Given the description of an element on the screen output the (x, y) to click on. 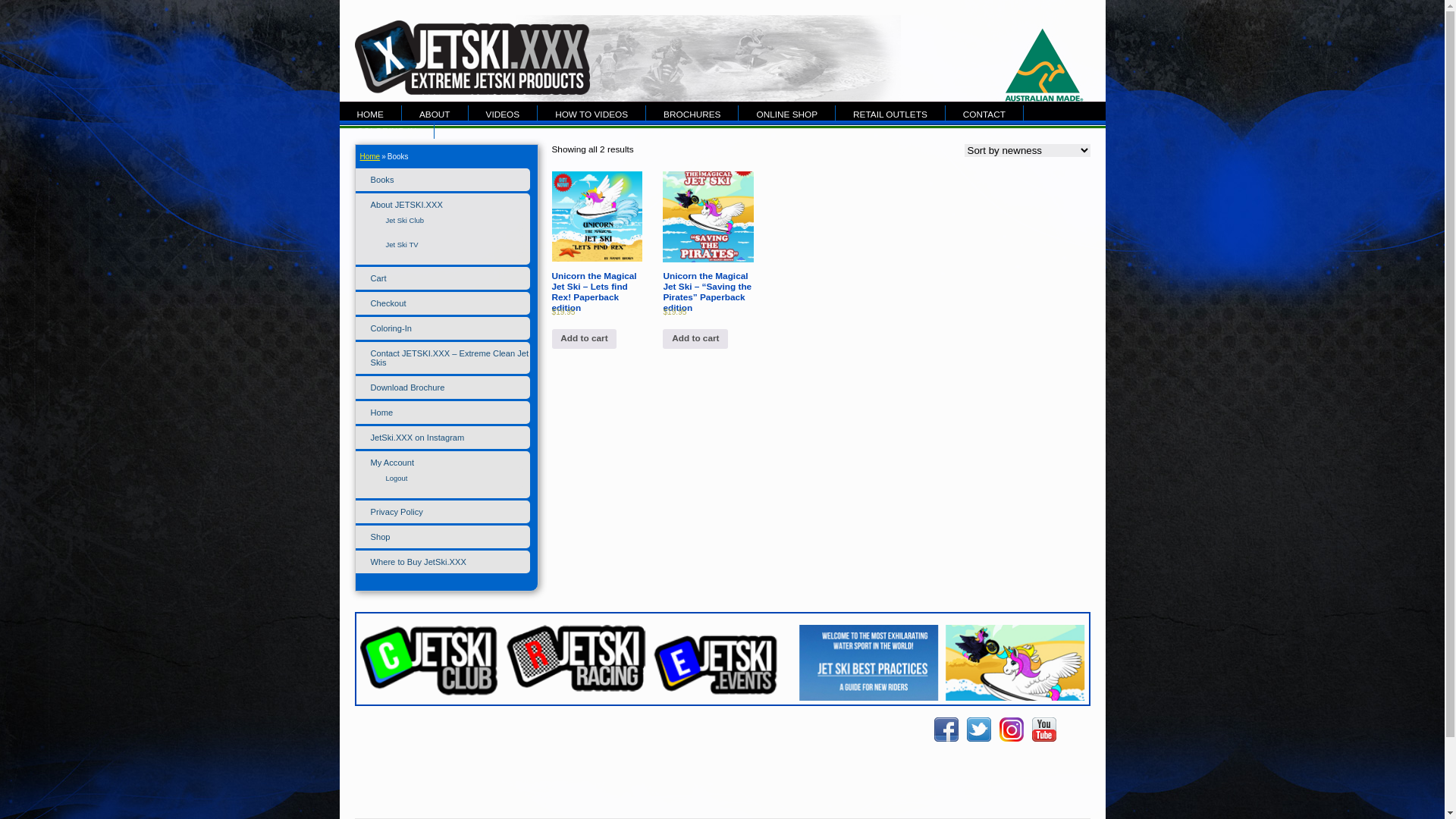
Jet Ski Events Element type: hover (721, 661)
Coloring-In Element type: text (390, 327)
Add to cart Element type: text (584, 338)
HOME Element type: text (370, 113)
Add to cart Element type: text (695, 338)
CONTACT Element type: text (984, 113)
HOW TO VIDEOS Element type: text (591, 113)
Jet Ski Club Element type: hover (428, 660)
JSBP Element type: hover (868, 670)
COLORING-IN Element type: text (387, 130)
Books Element type: text (381, 179)
Cart Element type: text (377, 277)
Jet Ski Racing Element type: hover (575, 687)
ABOUT Element type: text (434, 113)
Home Element type: text (381, 412)
Home Element type: text (369, 156)
Jet Ski Club Element type: hover (428, 692)
VIDEOS Element type: text (503, 113)
BROCHURES Element type: text (692, 113)
About JETSKI.XXX Element type: text (406, 204)
UJS STP Element type: hover (1014, 703)
Jet Ski TV Element type: text (401, 244)
JetSki.XXX on Instagram Element type: text (417, 437)
JSBP Element type: hover (868, 712)
Privacy Policy Element type: text (396, 511)
Checkout Element type: text (387, 302)
UJS STP Element type: hover (1014, 665)
ONLINE SHOP Element type: text (786, 113)
Jet Ski Events Element type: hover (721, 696)
Jet Ski Racing Element type: hover (575, 657)
Jet Ski Club Element type: text (404, 220)
Where to Buy JetSki.XXX Element type: text (417, 561)
Shop Element type: text (379, 536)
RETAIL OUTLETS Element type: text (890, 113)
Download Brochure Element type: text (407, 387)
My Account Element type: text (392, 462)
Logout Element type: text (396, 477)
